Given the description of an element on the screen output the (x, y) to click on. 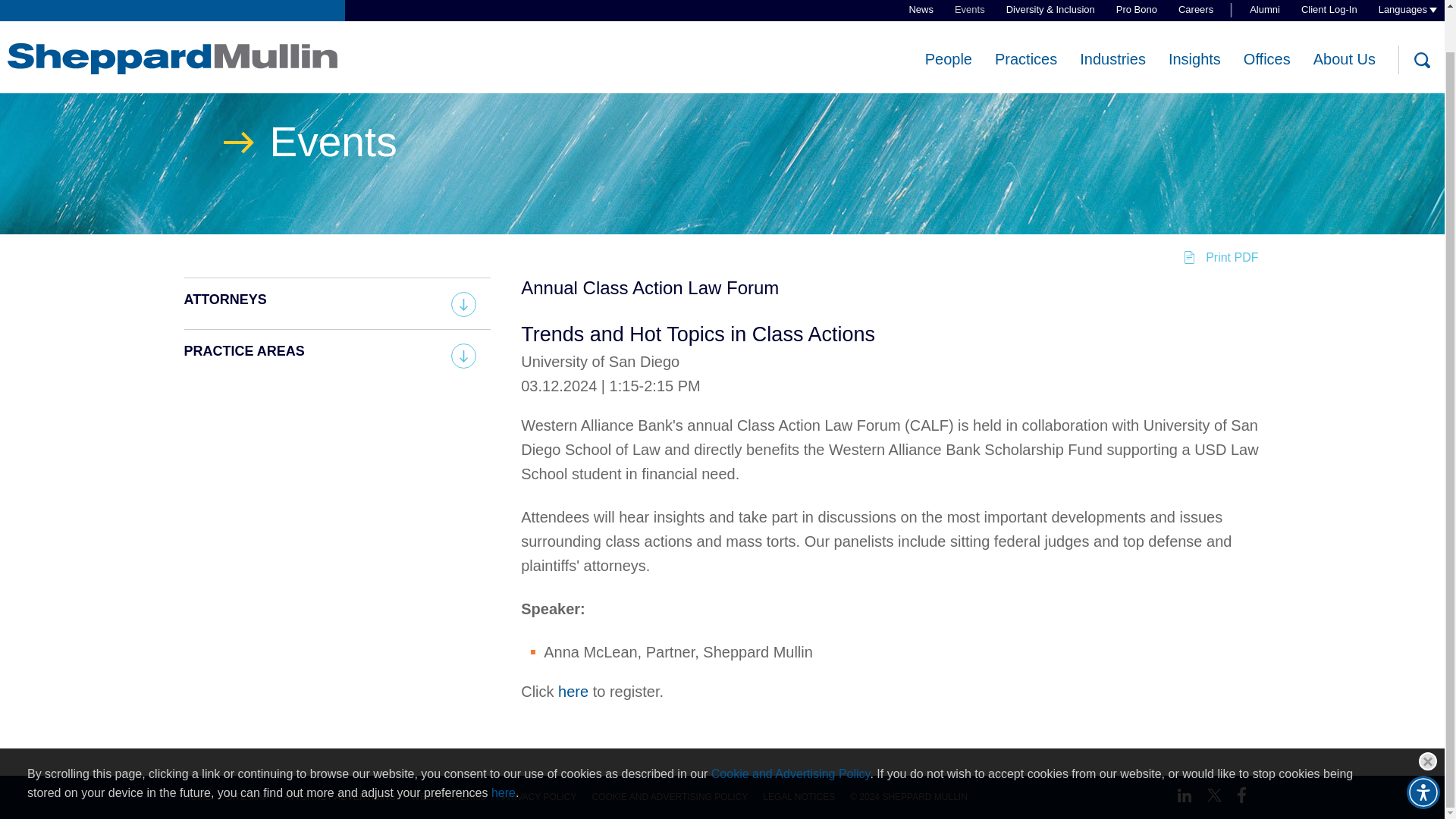
People (948, 15)
Practices (1025, 15)
